Given the description of an element on the screen output the (x, y) to click on. 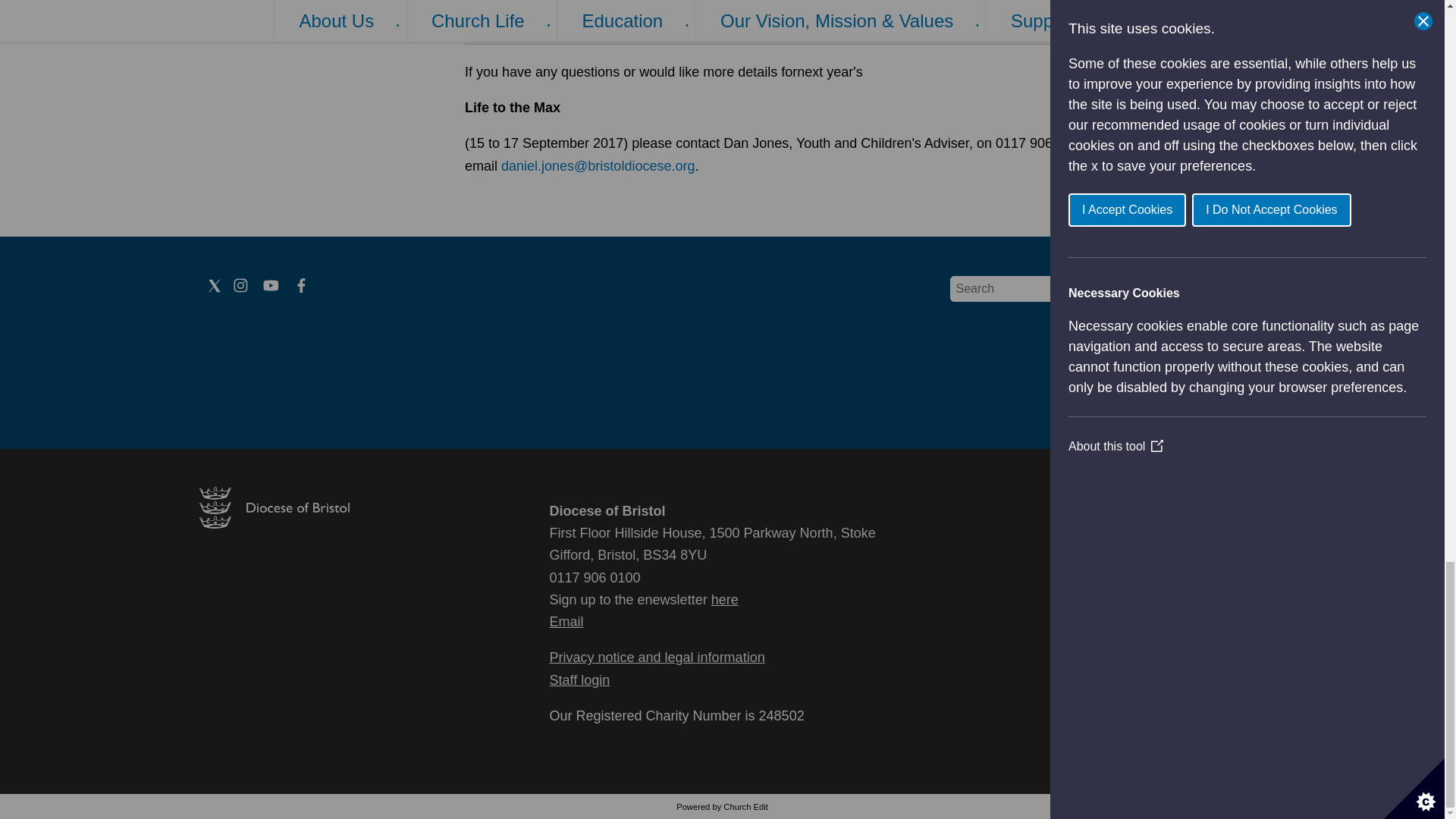
Diocese of Bristol Logo (273, 523)
